Given the description of an element on the screen output the (x, y) to click on. 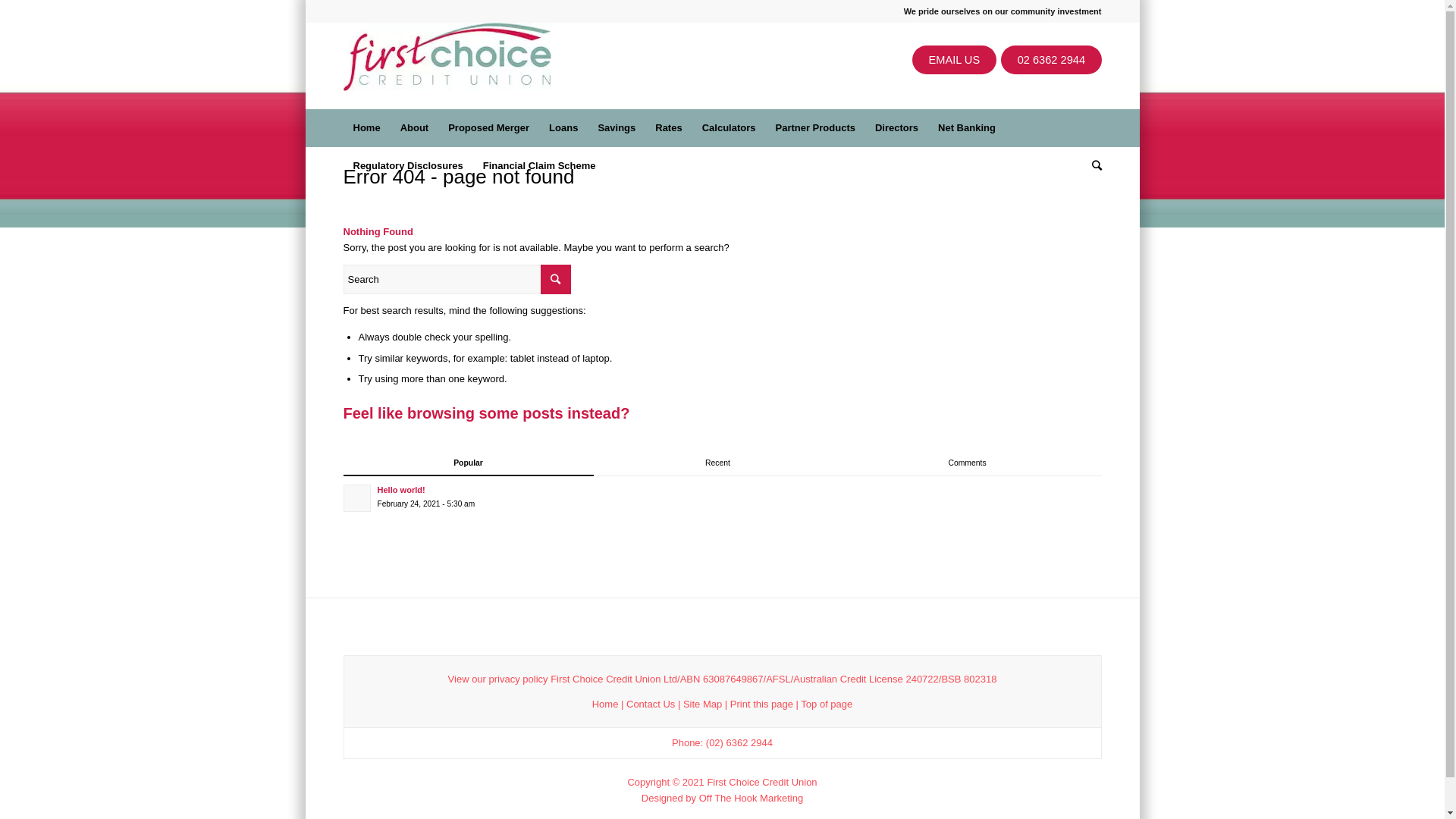
Print this page Element type: text (761, 703)
Regulatory Disclosures Element type: text (407, 166)
Partner Products Element type: text (814, 128)
EMAIL US Element type: text (954, 59)
Hello world!
February 24, 2021 - 5:30 am Element type: text (721, 496)
Loans Element type: text (563, 128)
Site Map Element type: text (702, 703)
Designed by Off The Hook Marketing Element type: text (722, 797)
About Element type: text (414, 128)
Calculators Element type: text (728, 128)
Proposed Merger Element type: text (488, 128)
Rates Element type: text (668, 128)
Net Banking Element type: text (966, 128)
Directors Element type: text (896, 128)
02 6362 2944 Element type: text (1051, 59)
Top of page Element type: text (826, 703)
Contact Us Element type: text (650, 703)
Home Element type: text (365, 128)
Financial Claim Scheme Element type: text (539, 166)
Savings Element type: text (616, 128)
Home Element type: text (605, 703)
